Given the description of an element on the screen output the (x, y) to click on. 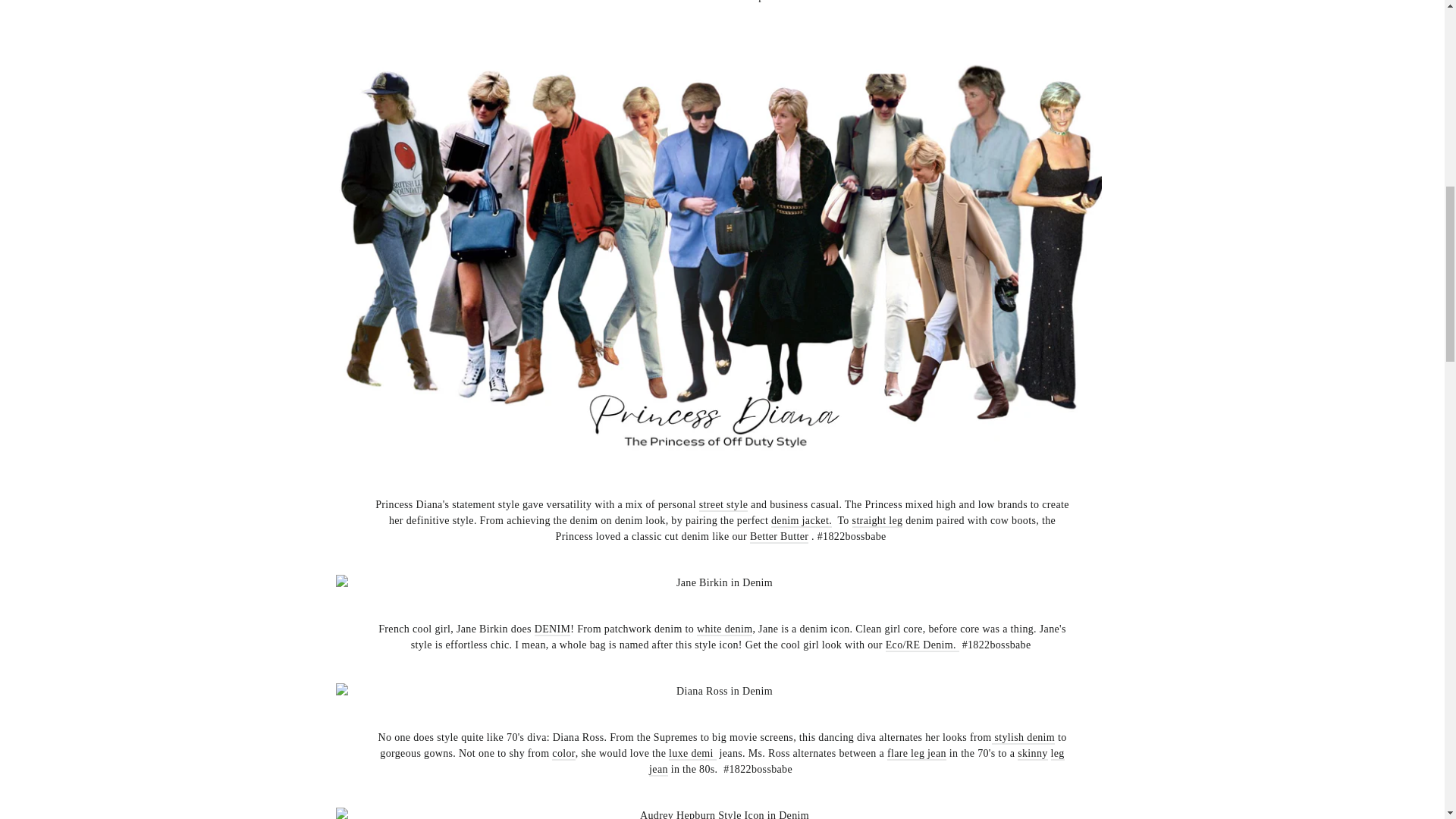
straight leg (876, 521)
stylish denim 1822 (1022, 738)
denim jacket (799, 521)
Lux Demi Boot (679, 753)
Lux Demi Boot (701, 753)
Better Butter Denim (778, 536)
flare leg jean (916, 753)
DENIM (552, 629)
white denim (724, 629)
colored denim 1822 (563, 753)
